Given the description of an element on the screen output the (x, y) to click on. 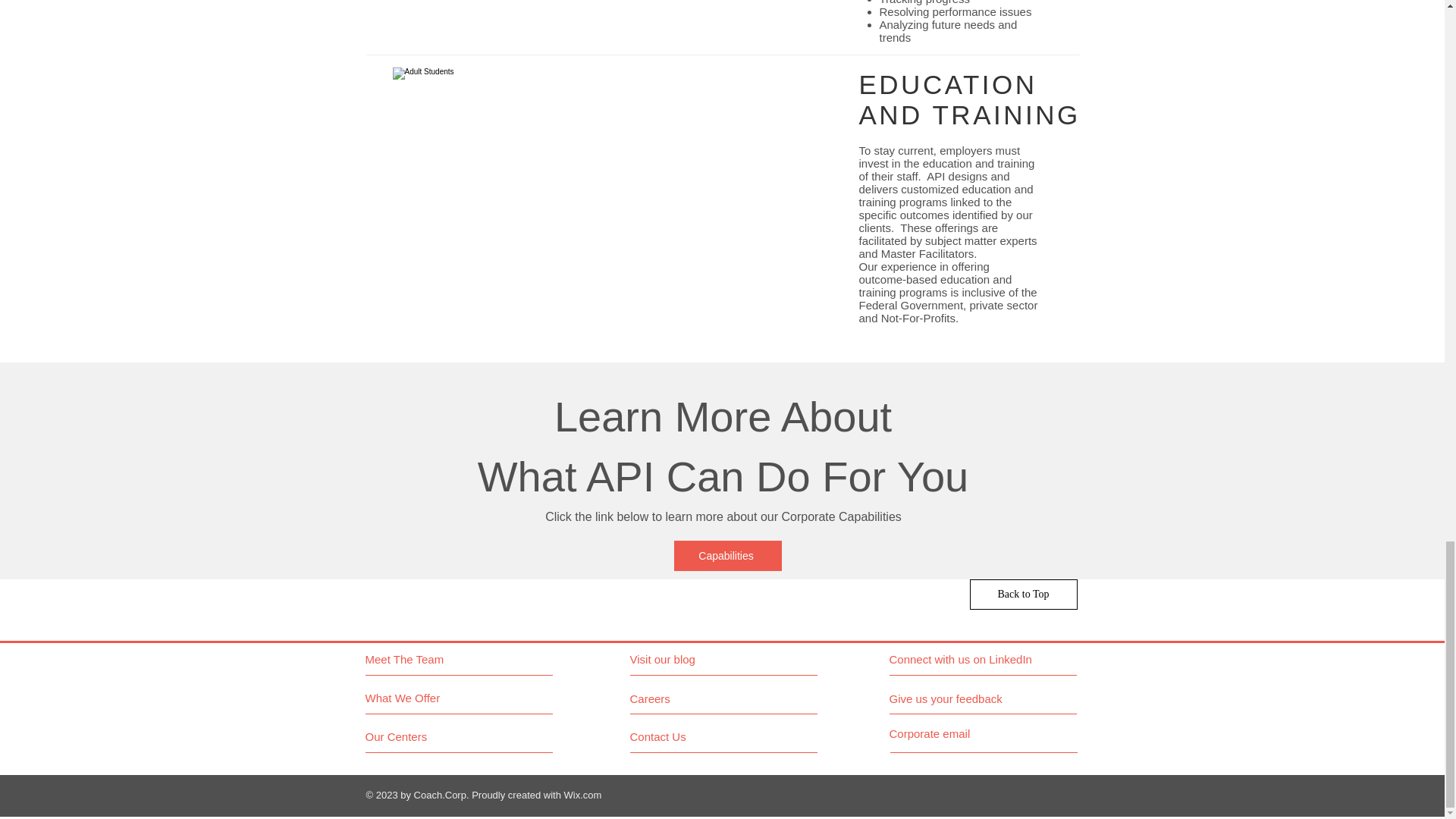
Our Centers (422, 736)
Capabilities (726, 555)
Meet The Team (430, 659)
Corporate email (928, 734)
Give us your feedback (950, 698)
What We Offer (422, 698)
Visit our blog (694, 659)
Back to Top (1023, 594)
Wix.com (583, 794)
Connect with us on LinkedIn (960, 659)
